Given the description of an element on the screen output the (x, y) to click on. 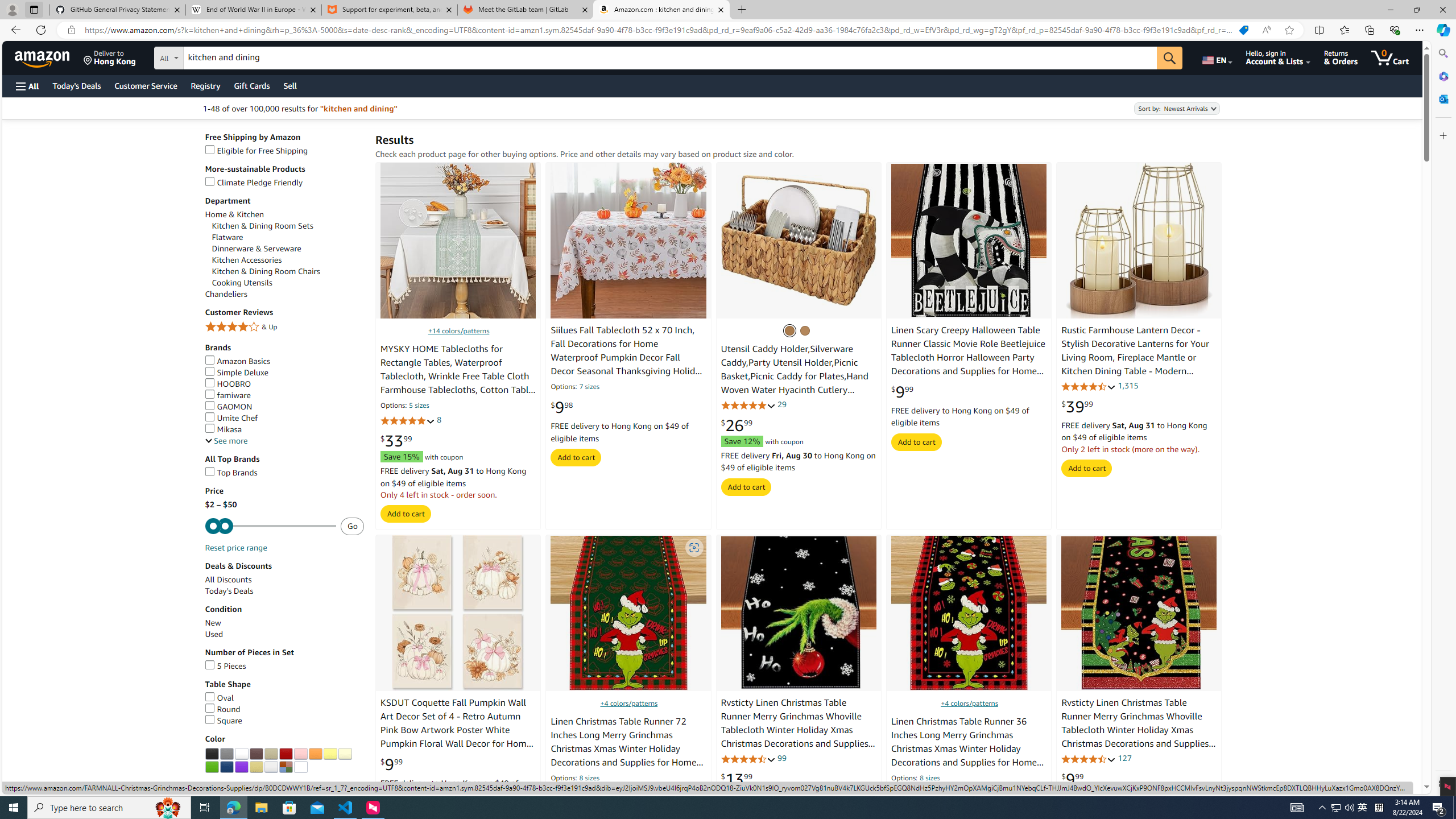
Hello, sign in Account & Lists (1278, 57)
Dinnerware & Serveware (256, 248)
AutomationID: p_n_feature_twenty_browse-bin/3254107011 (344, 753)
Amazon Basics (284, 361)
AutomationID: p_n_feature_twenty_browse-bin/3254113011 (285, 766)
Purple (241, 766)
Customer Service (145, 85)
Cooking Utensils (241, 282)
Search in (210, 56)
Add to cart (1086, 467)
Grey (226, 753)
Chandeliers (284, 293)
Gold (255, 766)
